Given the description of an element on the screen output the (x, y) to click on. 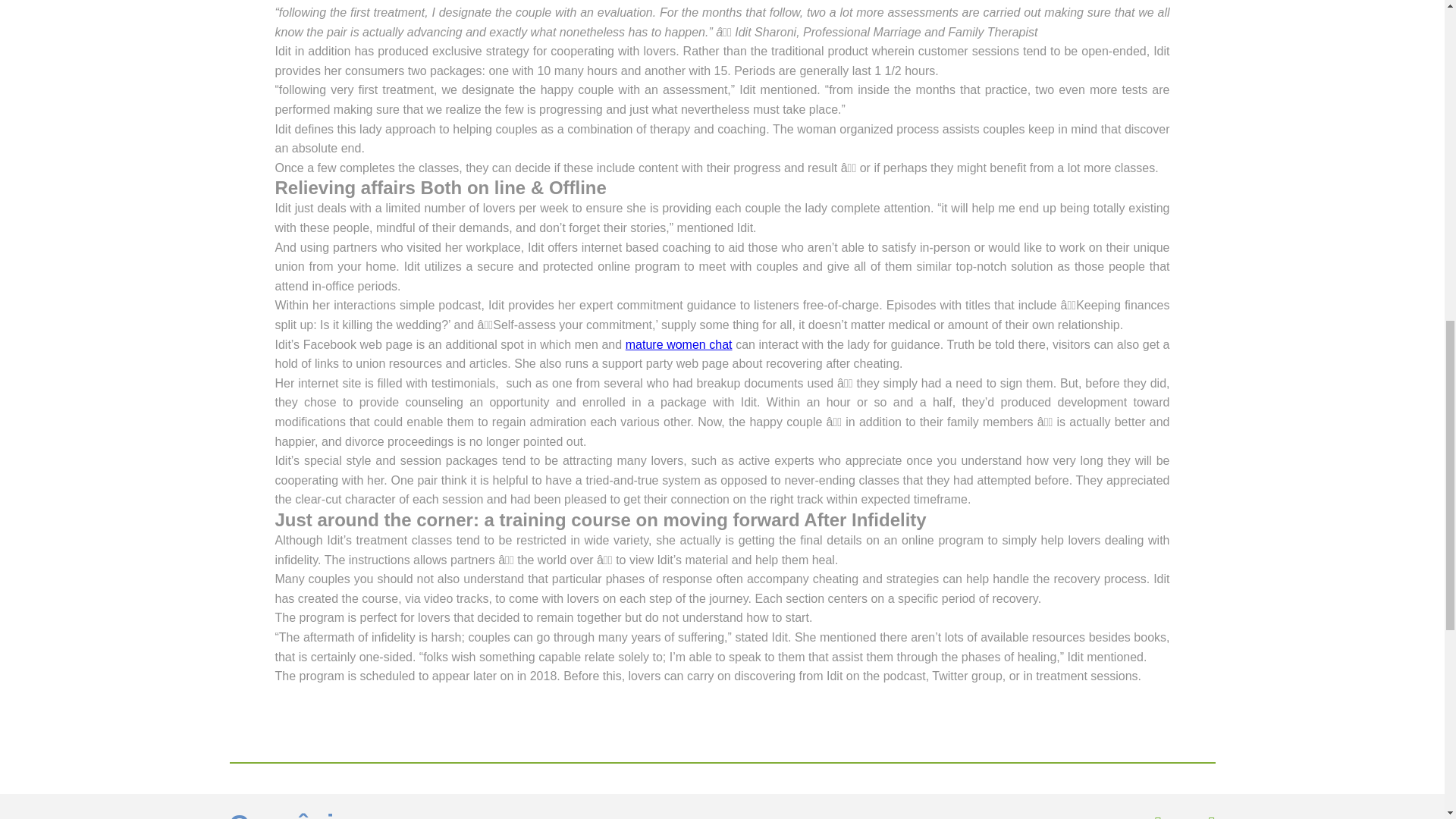
mature women chat (679, 344)
